Given the description of an element on the screen output the (x, y) to click on. 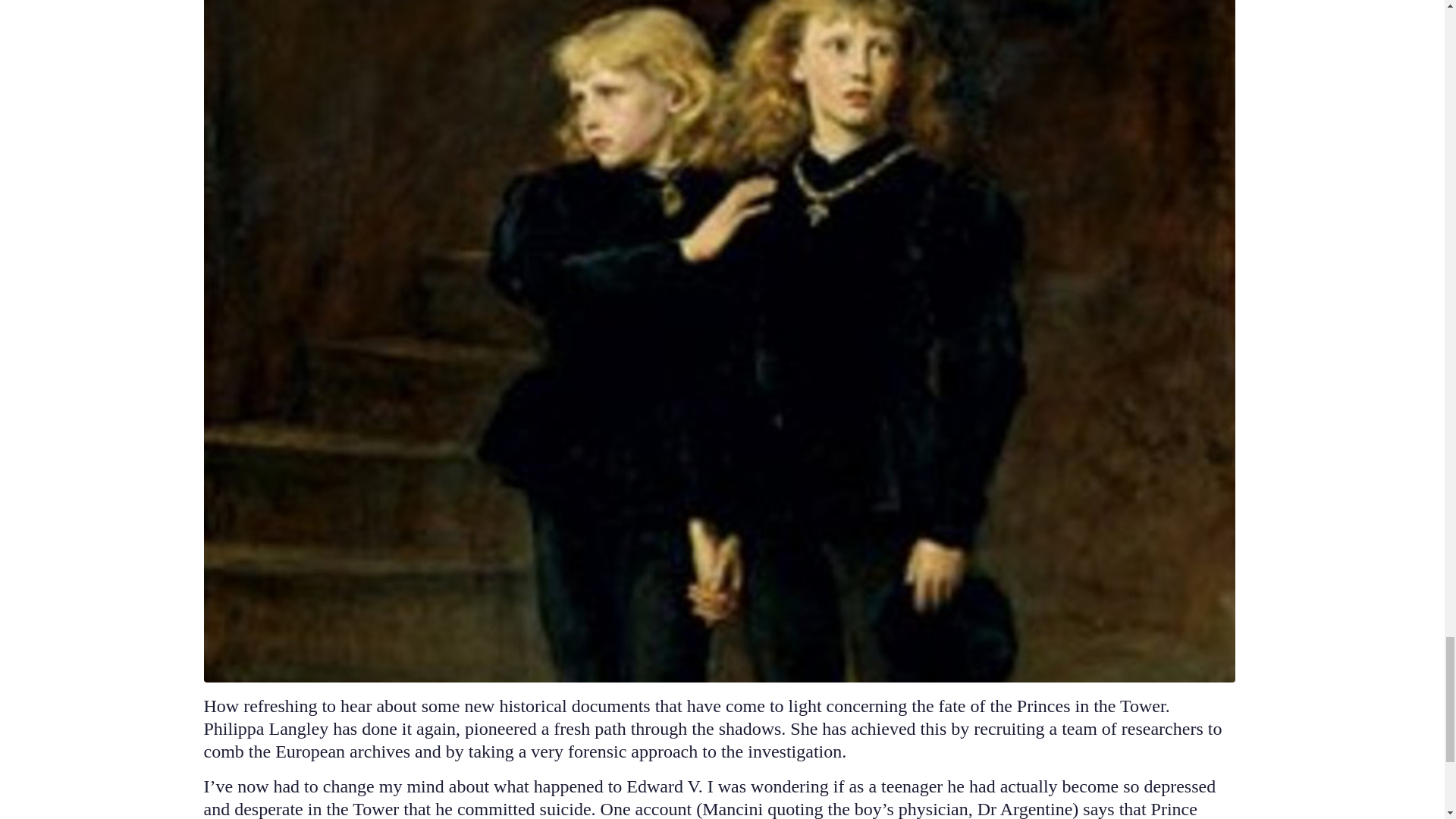
The Lost Princes (718, 288)
